Given the description of an element on the screen output the (x, y) to click on. 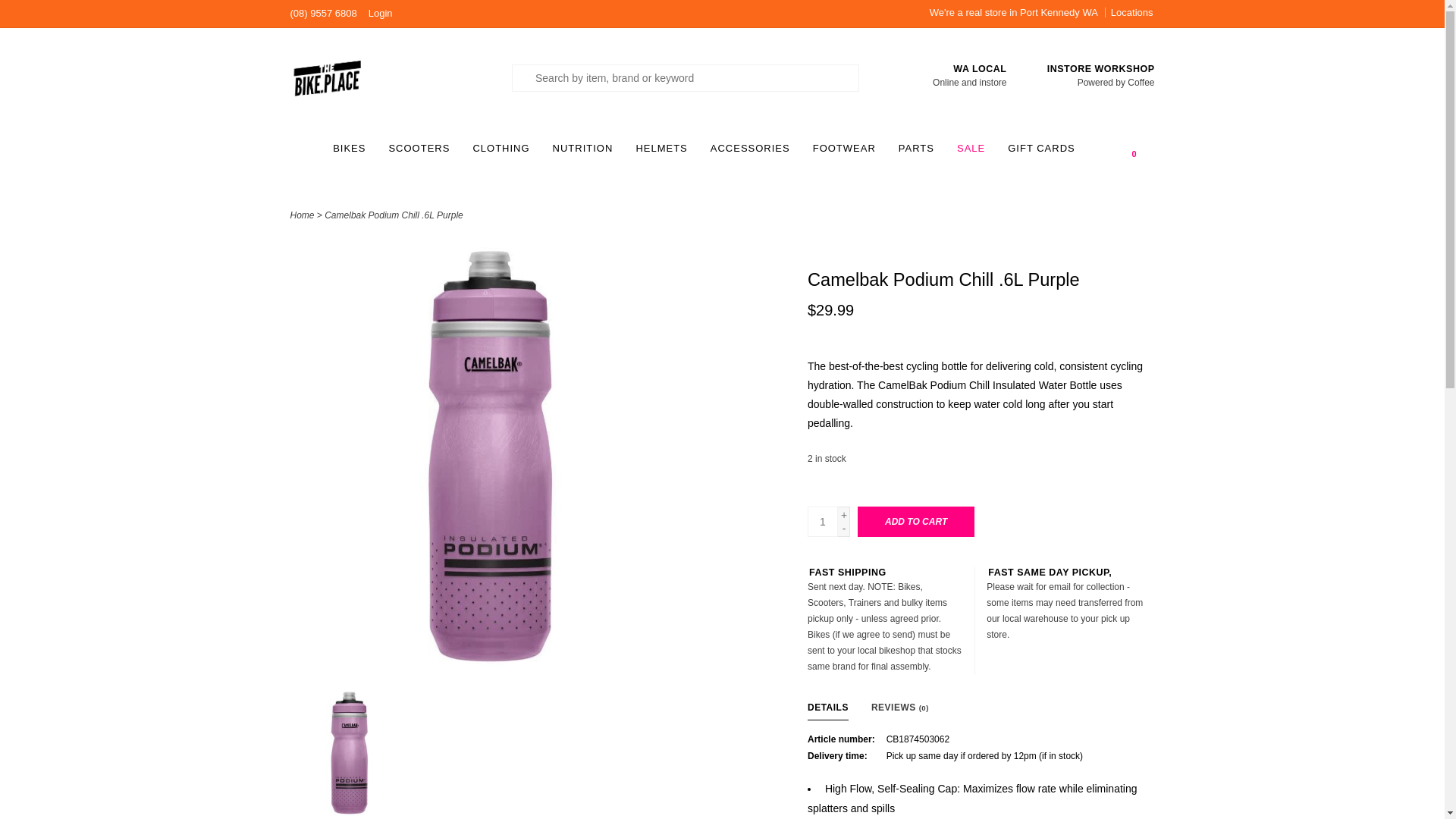
1 (823, 521)
The Bike Place (389, 77)
SCOOTERS (422, 152)
BIKES (352, 152)
CLOTHING (504, 152)
Login (380, 12)
Locations (1129, 12)
My account (380, 12)
Bikes (352, 152)
